Given the description of an element on the screen output the (x, y) to click on. 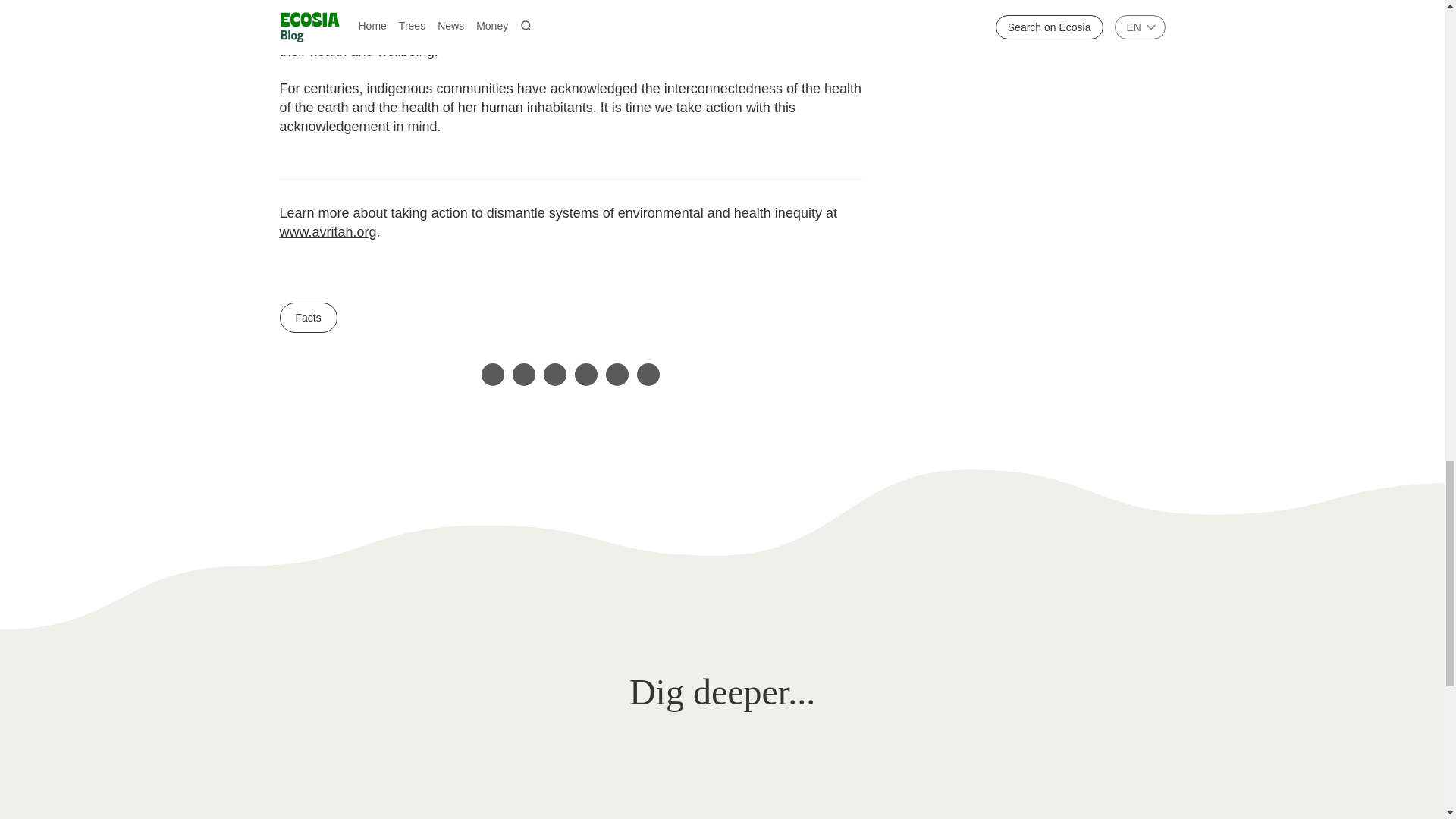
Share via Email (616, 374)
Facts (307, 317)
Share on Twitter (492, 374)
Share on LinkedIn (554, 374)
Copy link (648, 374)
www.avritah.org (327, 231)
Share on Facebook (523, 374)
Share on Pinterest (585, 374)
